Given the description of an element on the screen output the (x, y) to click on. 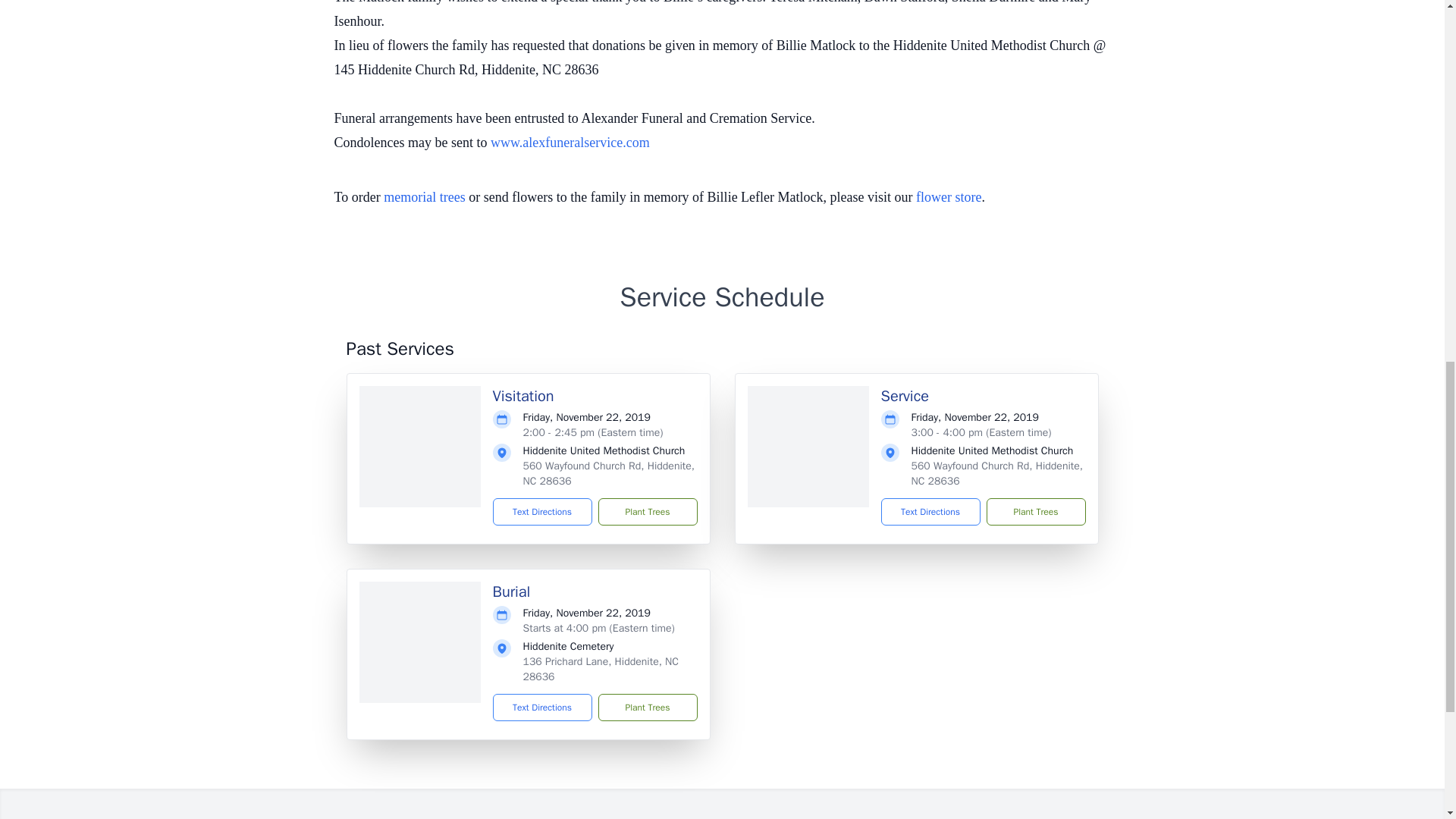
Click to open in a new window or tab (569, 142)
Plant Trees (646, 511)
Text Directions (542, 511)
Plant Trees (646, 707)
Plant Trees (1034, 511)
136 Prichard Lane, Hiddenite, NC 28636 (600, 669)
www.alexfuneralservice.com (569, 142)
560 Wayfound Church Rd, Hiddenite, NC 28636 (997, 473)
flower store (948, 196)
560 Wayfound Church Rd, Hiddenite, NC 28636 (608, 473)
